Given the description of an element on the screen output the (x, y) to click on. 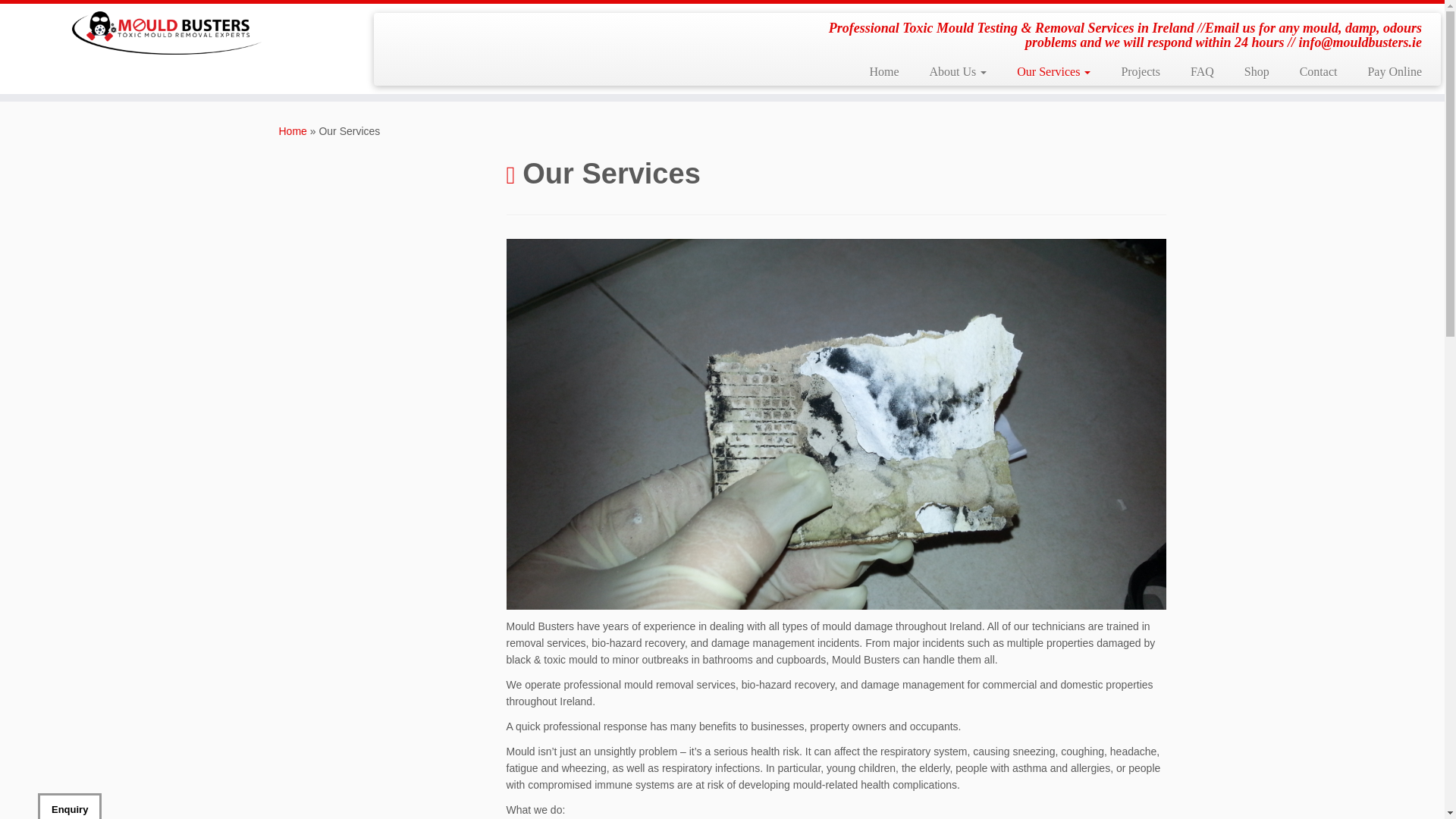
Contact (1318, 71)
FAQ (1201, 71)
Projects (1139, 71)
Shop (1256, 71)
Pay Online (1387, 71)
About Us (958, 71)
Our Services (1053, 71)
Mould Busters (293, 131)
Home (883, 71)
Home (293, 131)
